Given the description of an element on the screen output the (x, y) to click on. 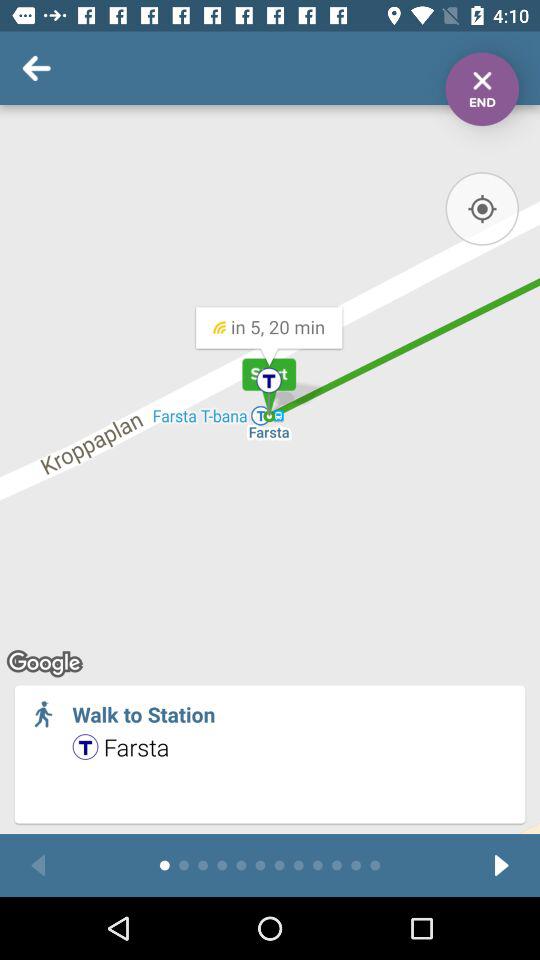
go to previous (38, 865)
